Given the description of an element on the screen output the (x, y) to click on. 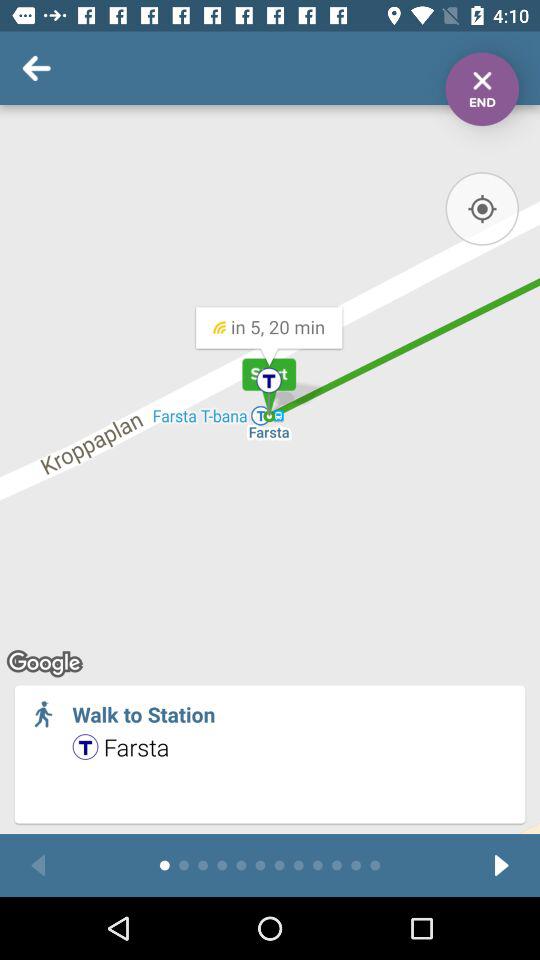
go to previous (38, 865)
